Given the description of an element on the screen output the (x, y) to click on. 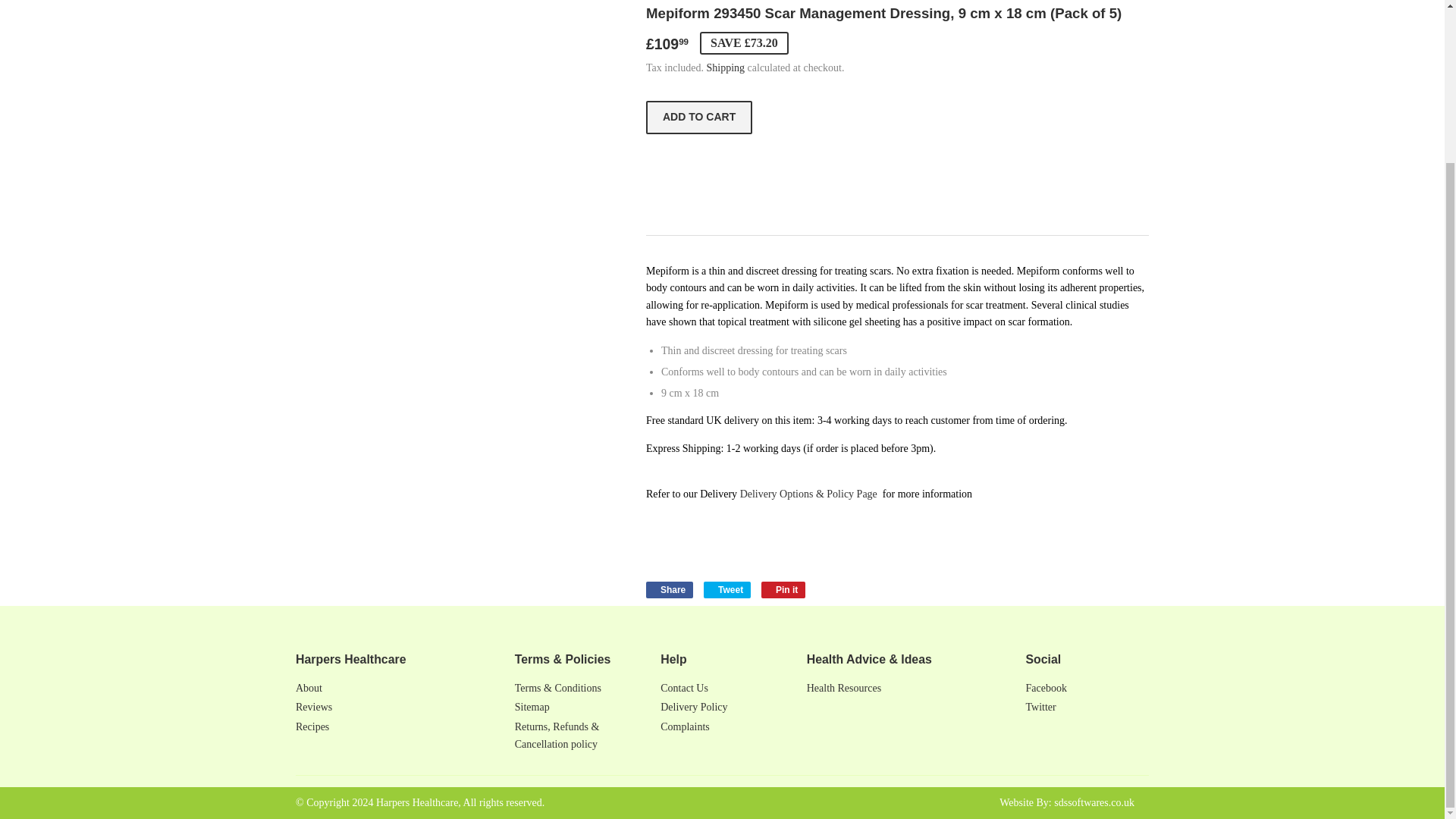
About (669, 589)
ADD TO CART (308, 687)
Shipping (699, 117)
Pin on Pinterest (783, 589)
Share on Facebook (725, 67)
Tweet on Twitter (783, 589)
